Given the description of an element on the screen output the (x, y) to click on. 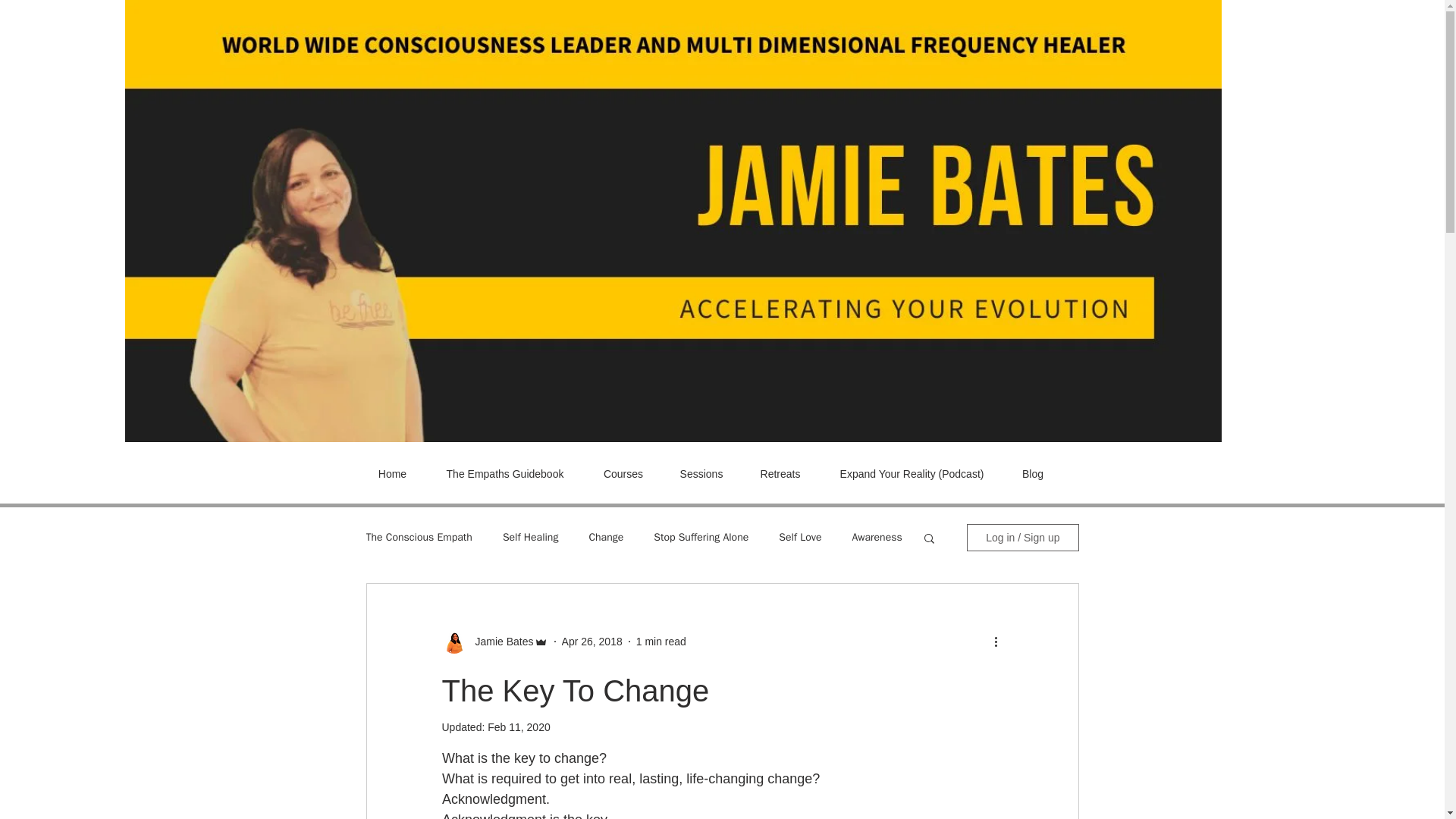
Courses (623, 473)
Self Healing (530, 537)
Jamie Bates (498, 641)
Stop Suffering Alone (700, 537)
Sessions (701, 473)
Blog (1032, 473)
The Conscious Empath (418, 537)
The Empaths Guidebook (505, 473)
Feb 11, 2020 (518, 727)
Home (392, 473)
Self Love (799, 537)
Retreats (780, 473)
Apr 26, 2018 (592, 641)
Awareness (876, 537)
Change (605, 537)
